Given the description of an element on the screen output the (x, y) to click on. 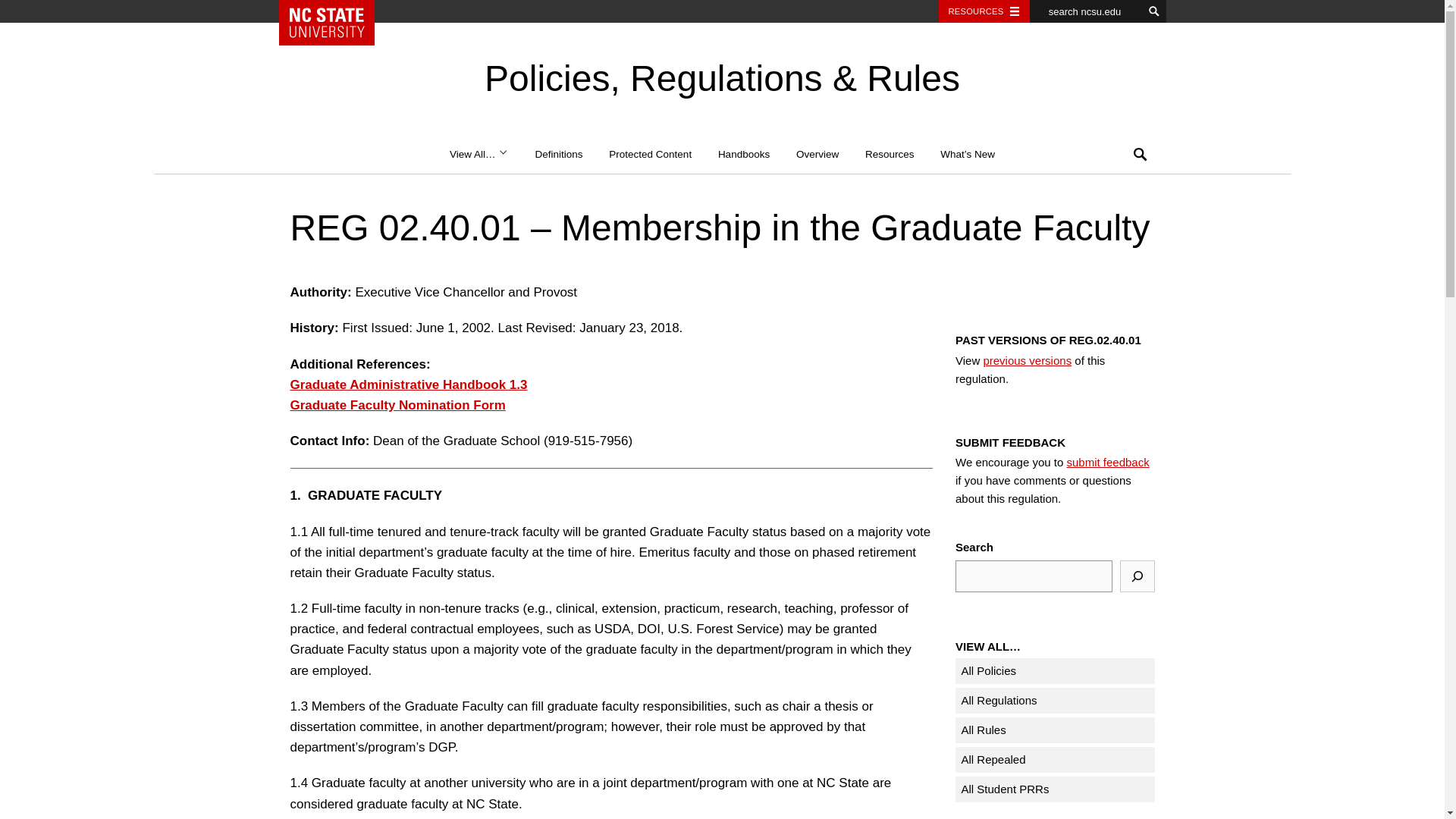
NC State Home (332, 22)
search (1154, 11)
search (1154, 11)
search (1154, 11)
RESOURCES (984, 11)
